Given the description of an element on the screen output the (x, y) to click on. 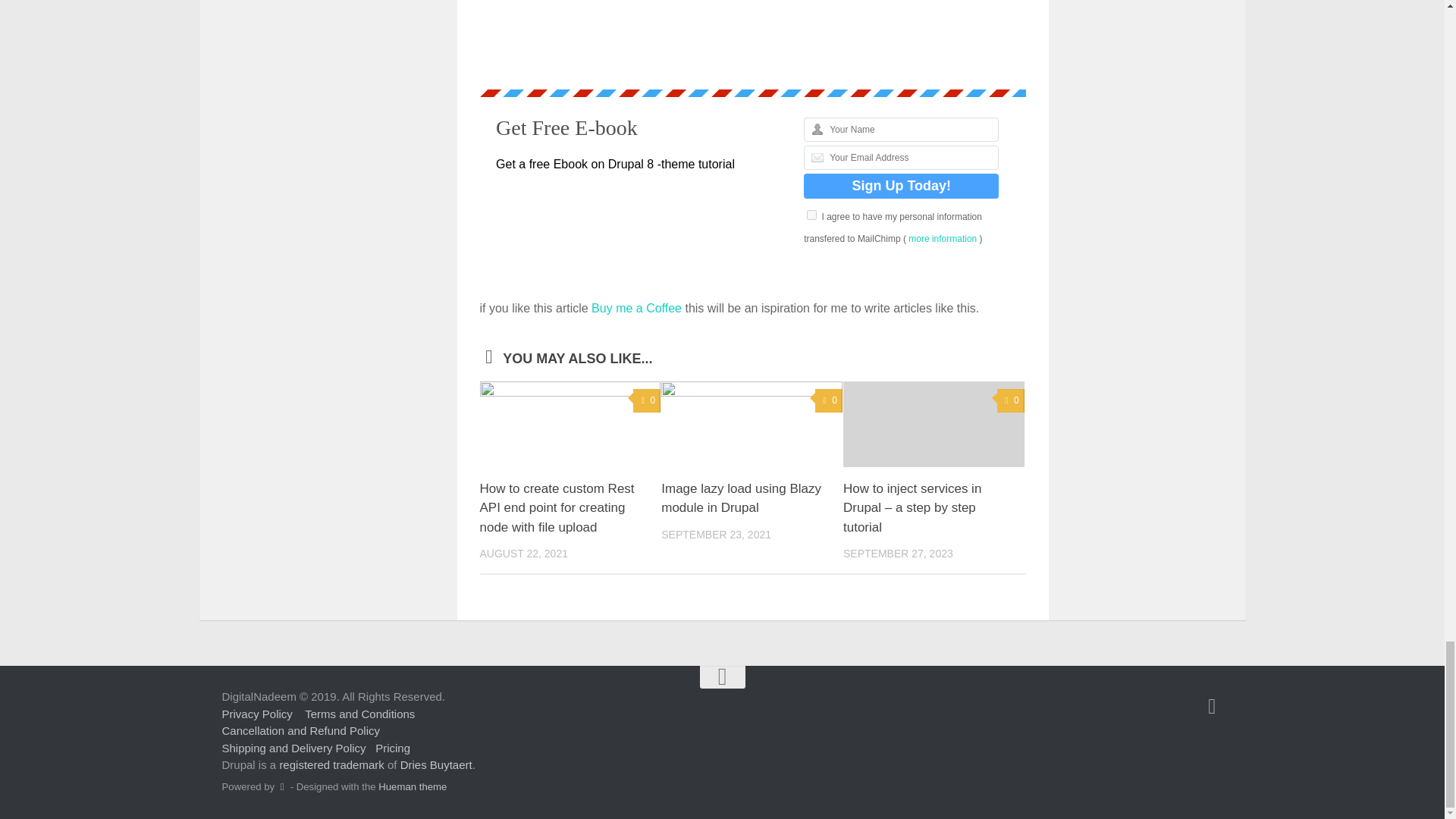
on (811, 214)
Buy me a Coffee (636, 308)
Sign Up Today! (900, 186)
more information (942, 238)
Permalink to Image lazy load using Blazy module in Drupal (741, 498)
Sign Up Today! (900, 186)
